Given the description of an element on the screen output the (x, y) to click on. 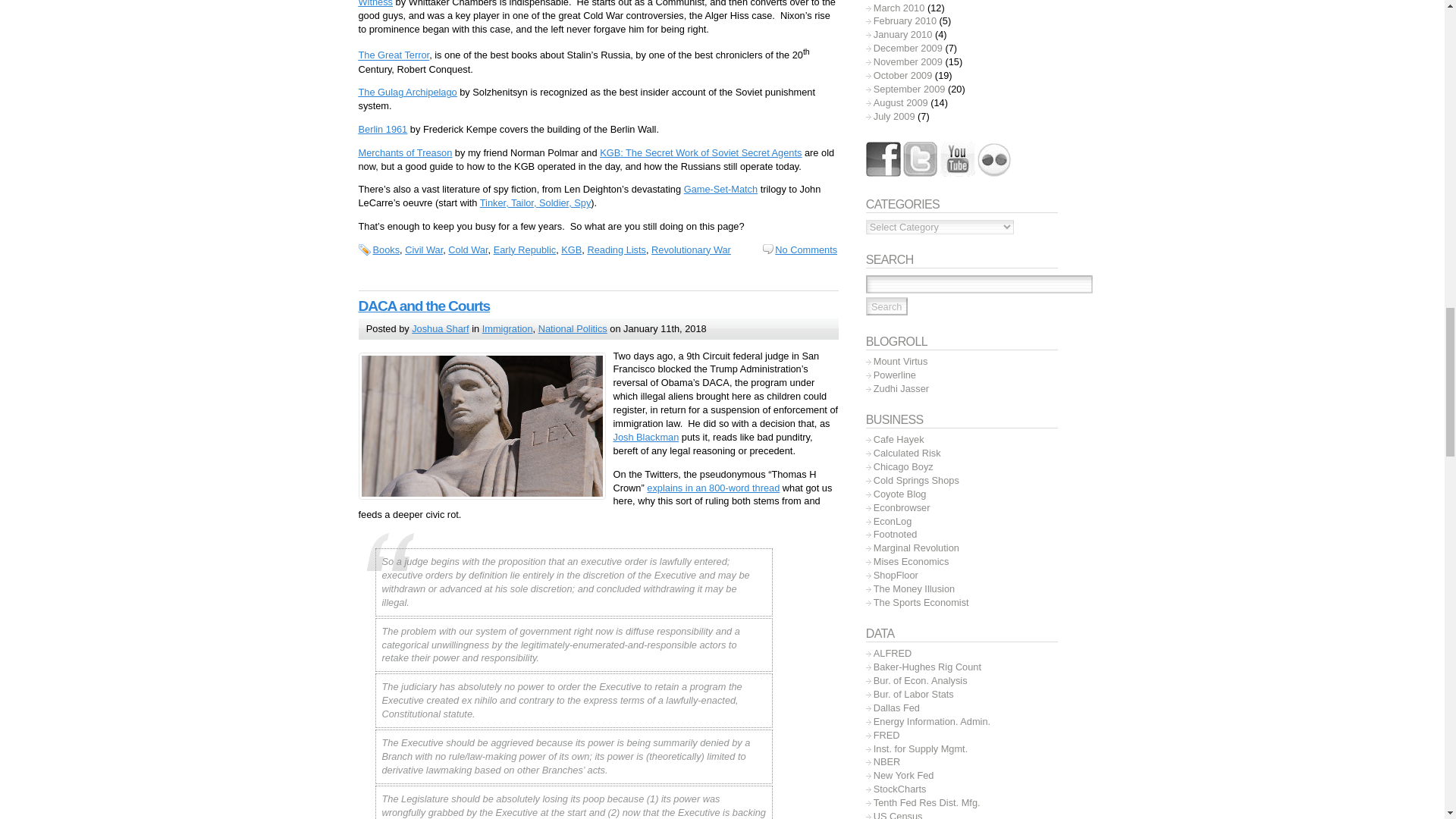
Game-Set-Match (720, 188)
Search (886, 306)
Merchants of Treason (404, 152)
Search (886, 306)
KGB: The Secret Work of Soviet Secret Agents (700, 152)
The Great Terror (393, 55)
The Gulag Archipelago (407, 91)
Posts by Joshua Sharf  (440, 328)
Permanent Link: DACA and the Courts (423, 305)
Witness (375, 3)
Berlin 1961 (382, 129)
